Given the description of an element on the screen output the (x, y) to click on. 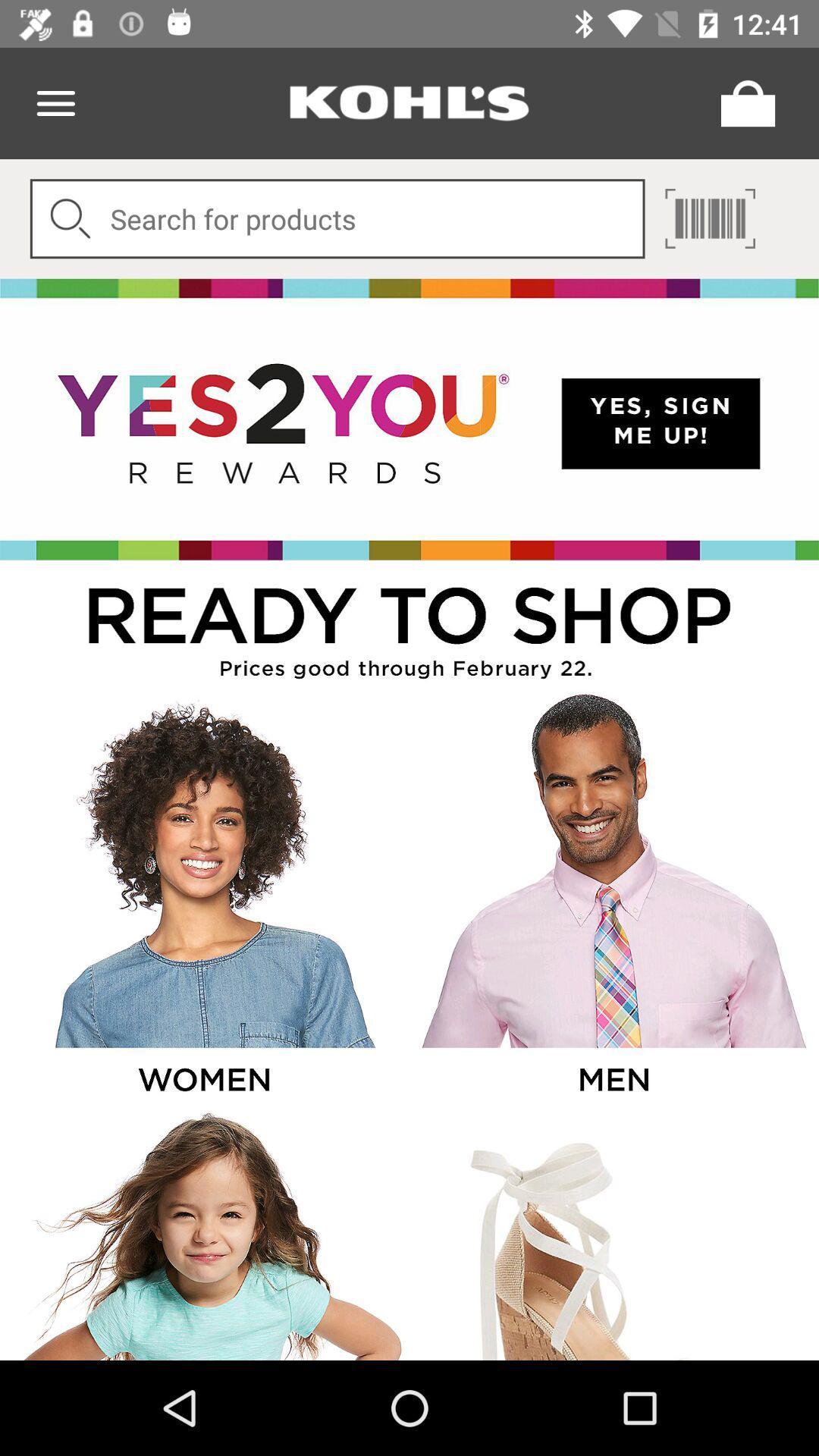
title description (409, 625)
